Given the description of an element on the screen output the (x, y) to click on. 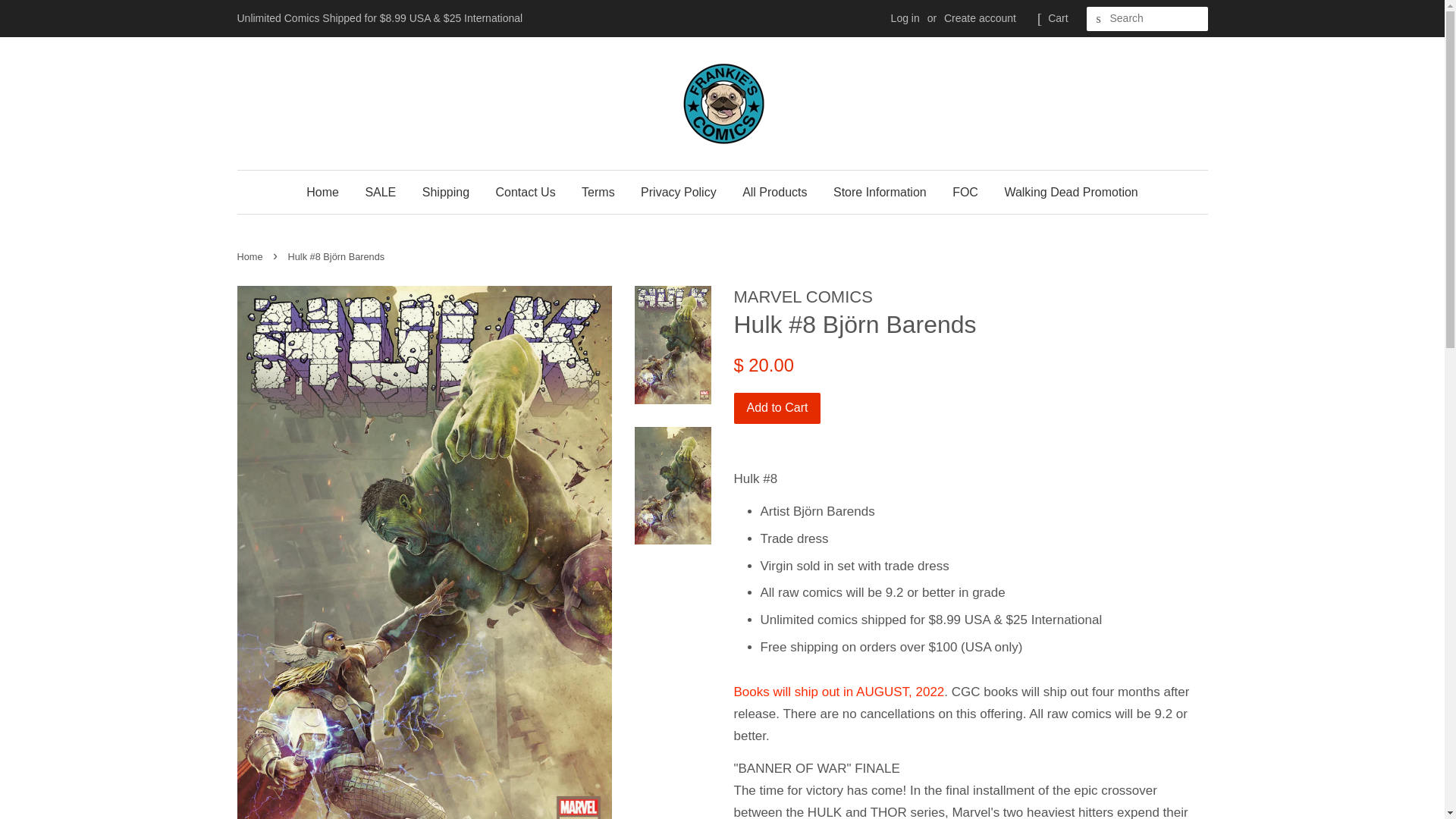
Terms (598, 191)
Back to the frontpage (250, 256)
Shipping (445, 191)
SALE (380, 191)
Walking Dead Promotion (1064, 191)
Add to Cart (777, 408)
Home (250, 256)
Search (1097, 18)
Log in (905, 18)
All Products (774, 191)
Home (327, 191)
Contact Us (524, 191)
Store Information (879, 191)
Create account (979, 18)
Cart (1057, 18)
